Given the description of an element on the screen output the (x, y) to click on. 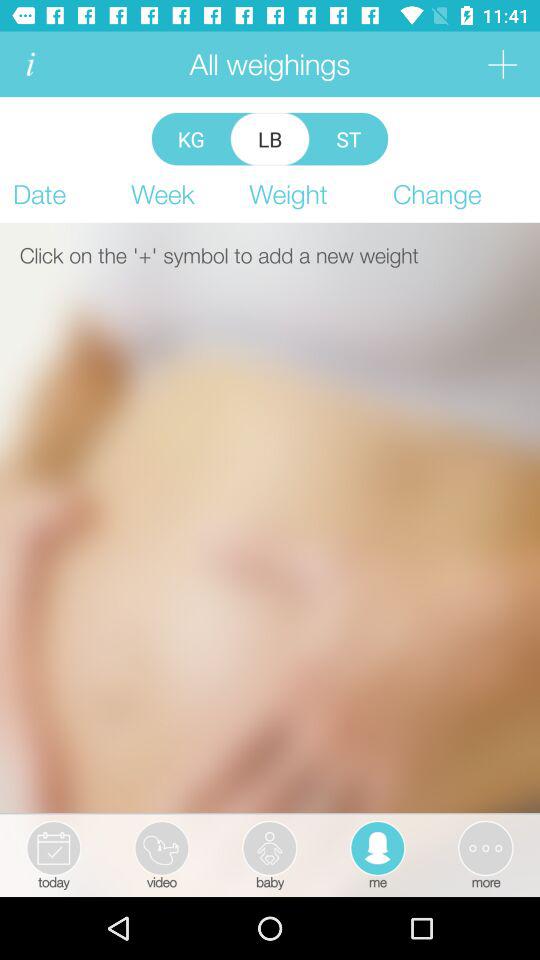
turn on the item next to the st (269, 138)
